Given the description of an element on the screen output the (x, y) to click on. 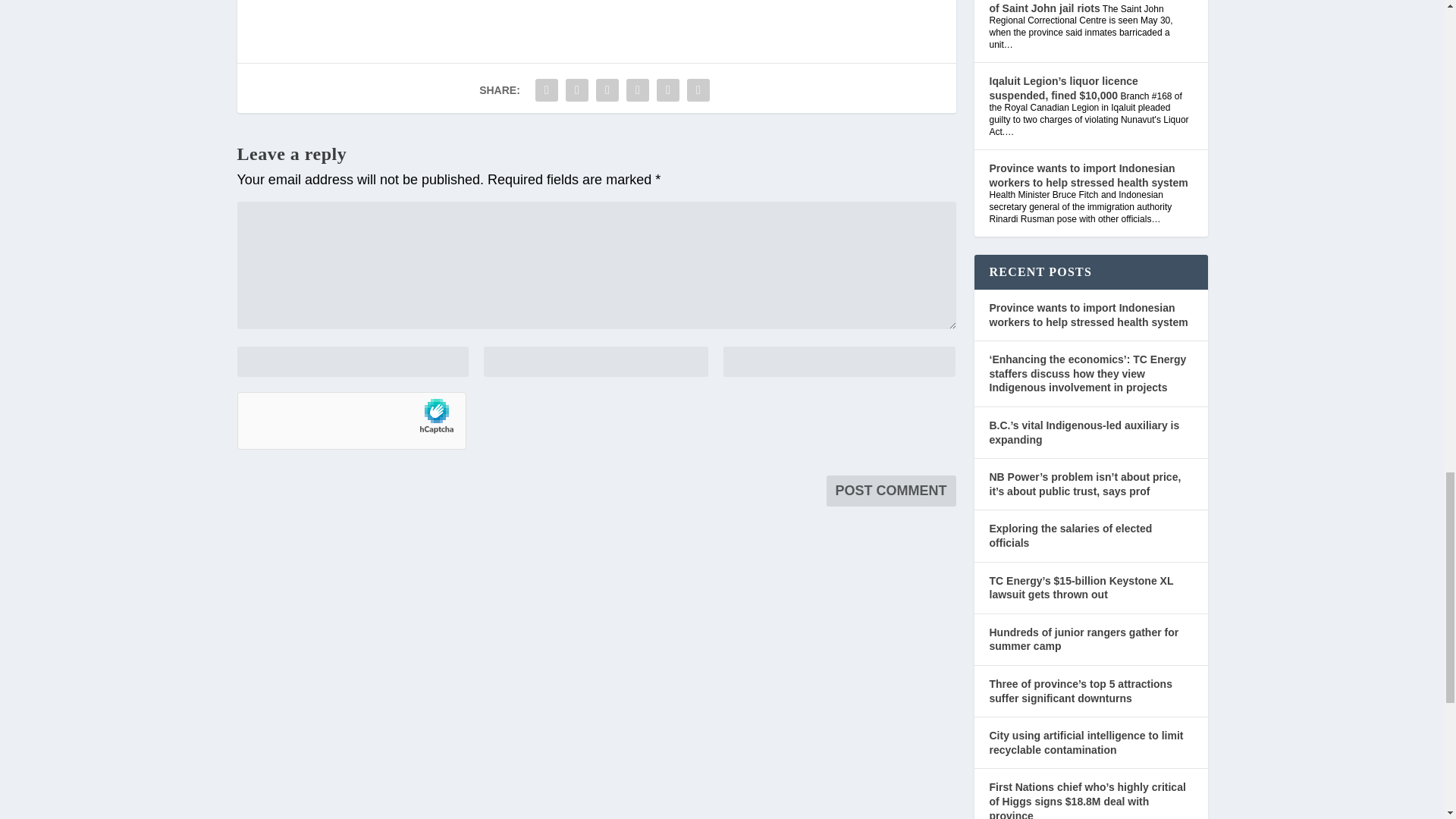
Widget containing checkbox for hCaptcha security challenge (350, 421)
Post Comment (891, 490)
